Given the description of an element on the screen output the (x, y) to click on. 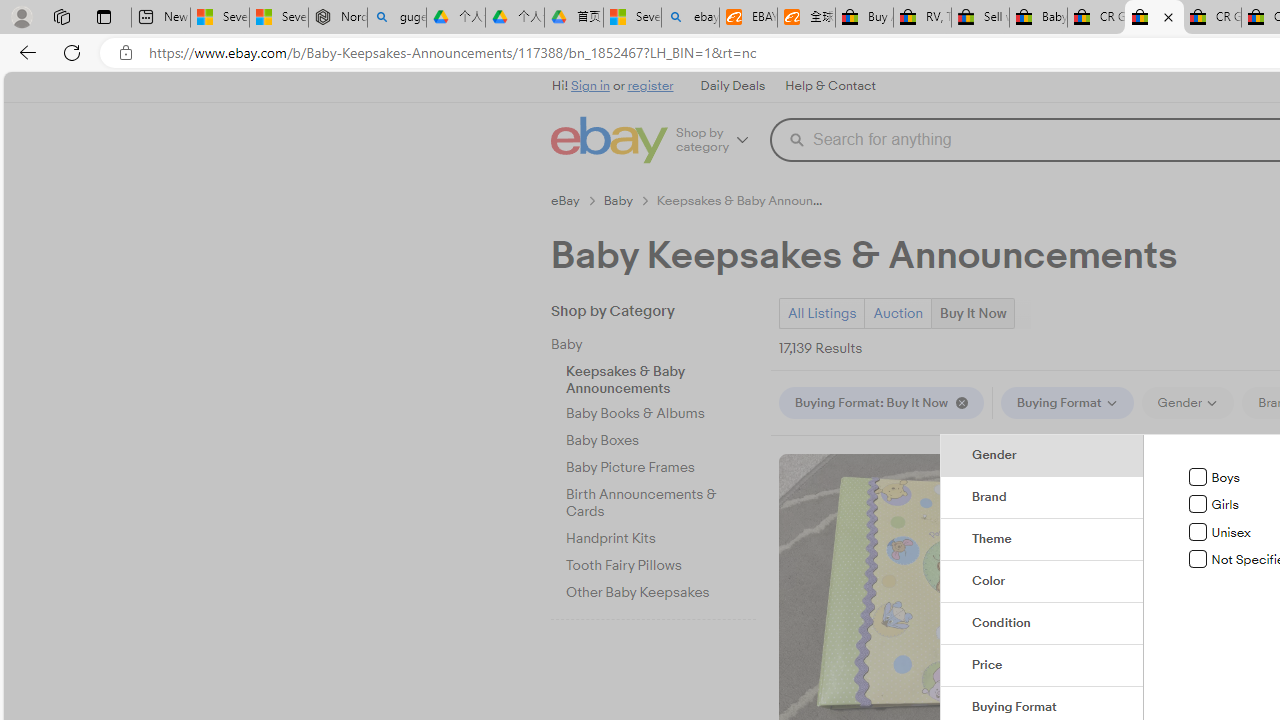
Gender (1042, 455)
Sell worldwide with eBay (980, 17)
Close tab (1168, 16)
Tab actions menu (104, 16)
guge yunpan - Search (396, 17)
Back (24, 52)
Boys (1198, 477)
View site information (125, 53)
Personal Profile (21, 16)
Refresh (72, 52)
Brand (1042, 497)
Color (1042, 581)
Price (1042, 665)
